Given the description of an element on the screen output the (x, y) to click on. 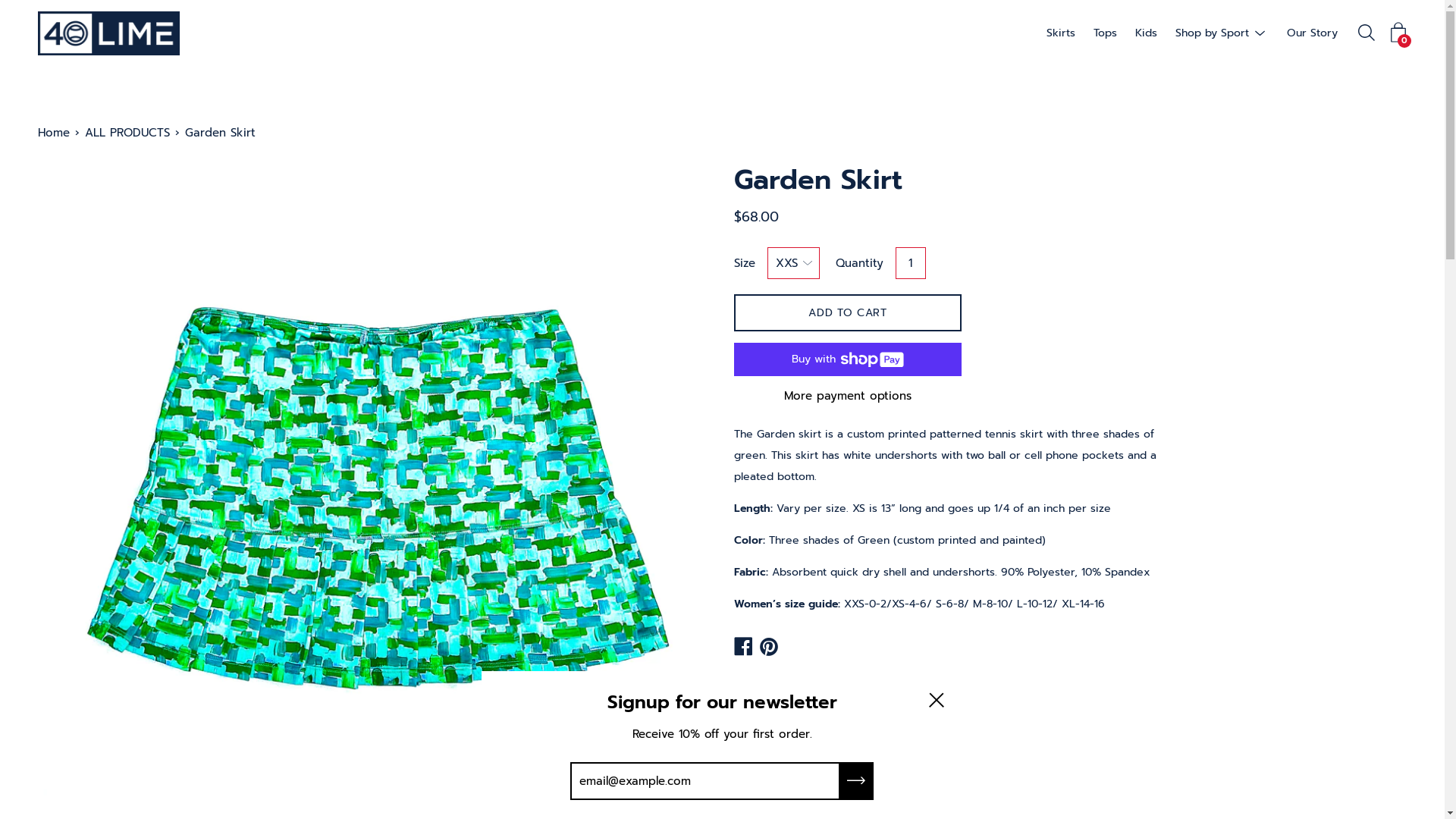
More payment options Element type: text (847, 395)
Share on Pinterest Element type: text (768, 647)
Skirts Element type: text (1060, 33)
ADD TO CART Element type: text (847, 312)
Tops Element type: text (1105, 33)
Share on Facebook Element type: text (743, 647)
Kids Element type: text (1146, 33)
Show submenu Element type: text (1259, 33)
ALL PRODUCTS Element type: text (129, 132)
Home Element type: text (56, 132)
0 Element type: text (1398, 32)
Shop by Sport Element type: text (1211, 33)
Our Story Element type: text (1311, 33)
Open search bar Element type: text (1366, 32)
